Given the description of an element on the screen output the (x, y) to click on. 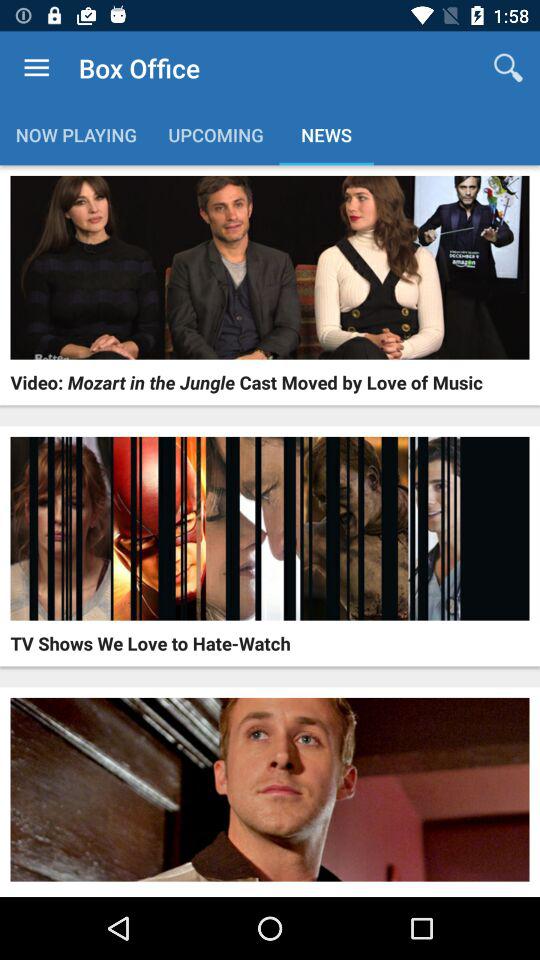
scroll to the tv shows we (150, 643)
